Given the description of an element on the screen output the (x, y) to click on. 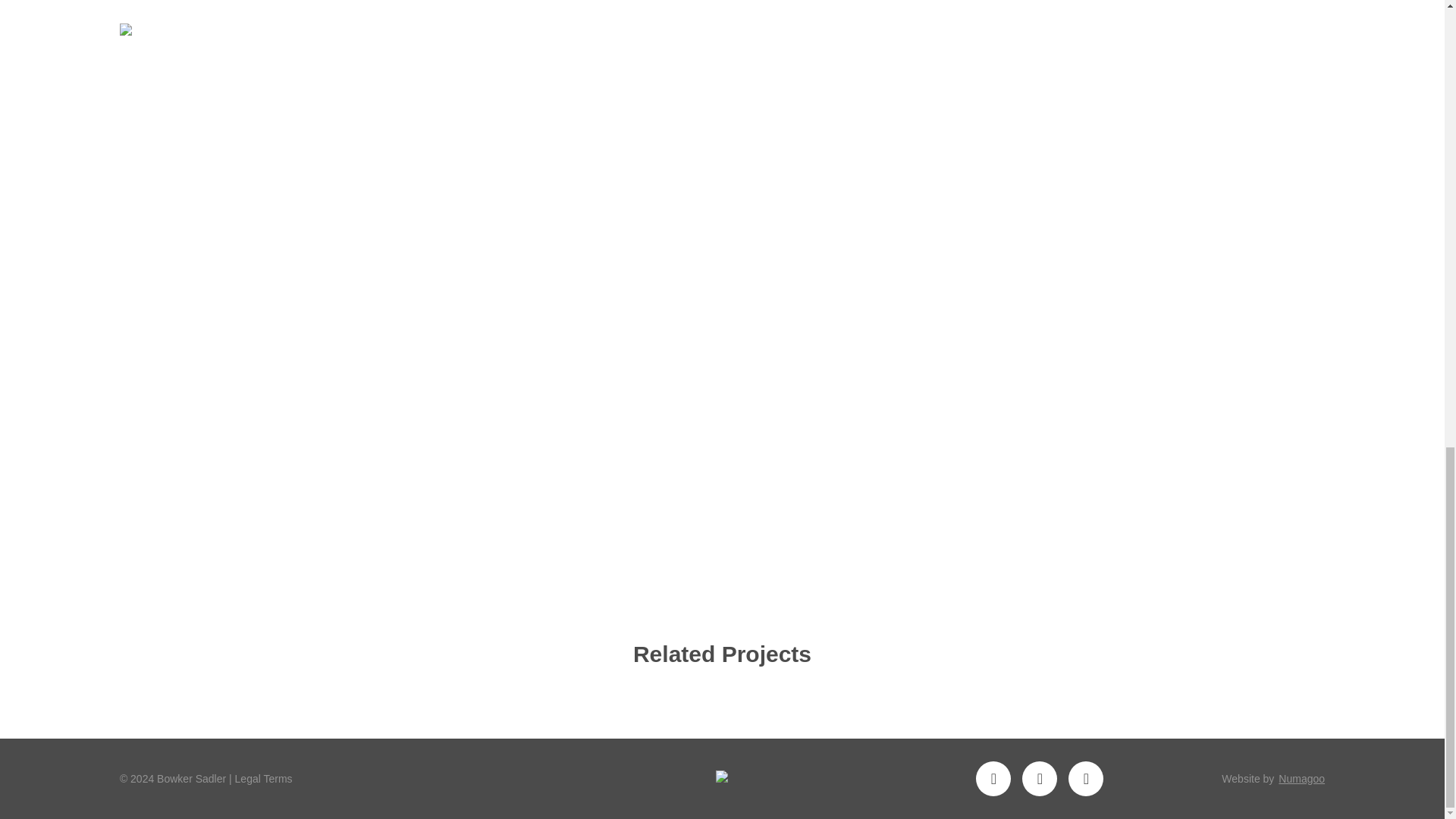
Numagoo (1301, 778)
Legal Terms (263, 778)
